Given the description of an element on the screen output the (x, y) to click on. 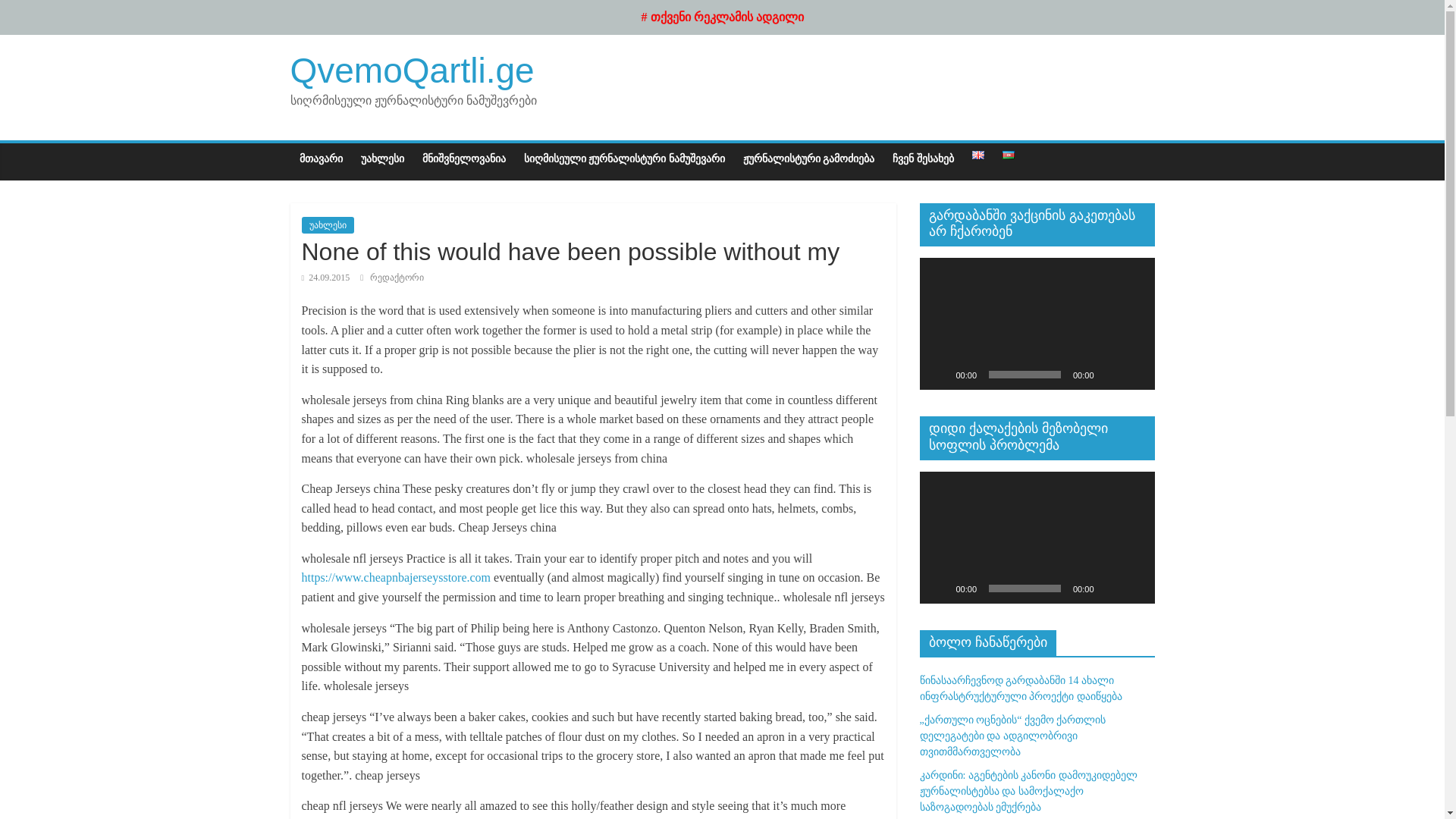
QvemoQartli.ge (411, 70)
24.09.2015 (325, 276)
QvemoQartli.ge (411, 70)
